Given the description of an element on the screen output the (x, y) to click on. 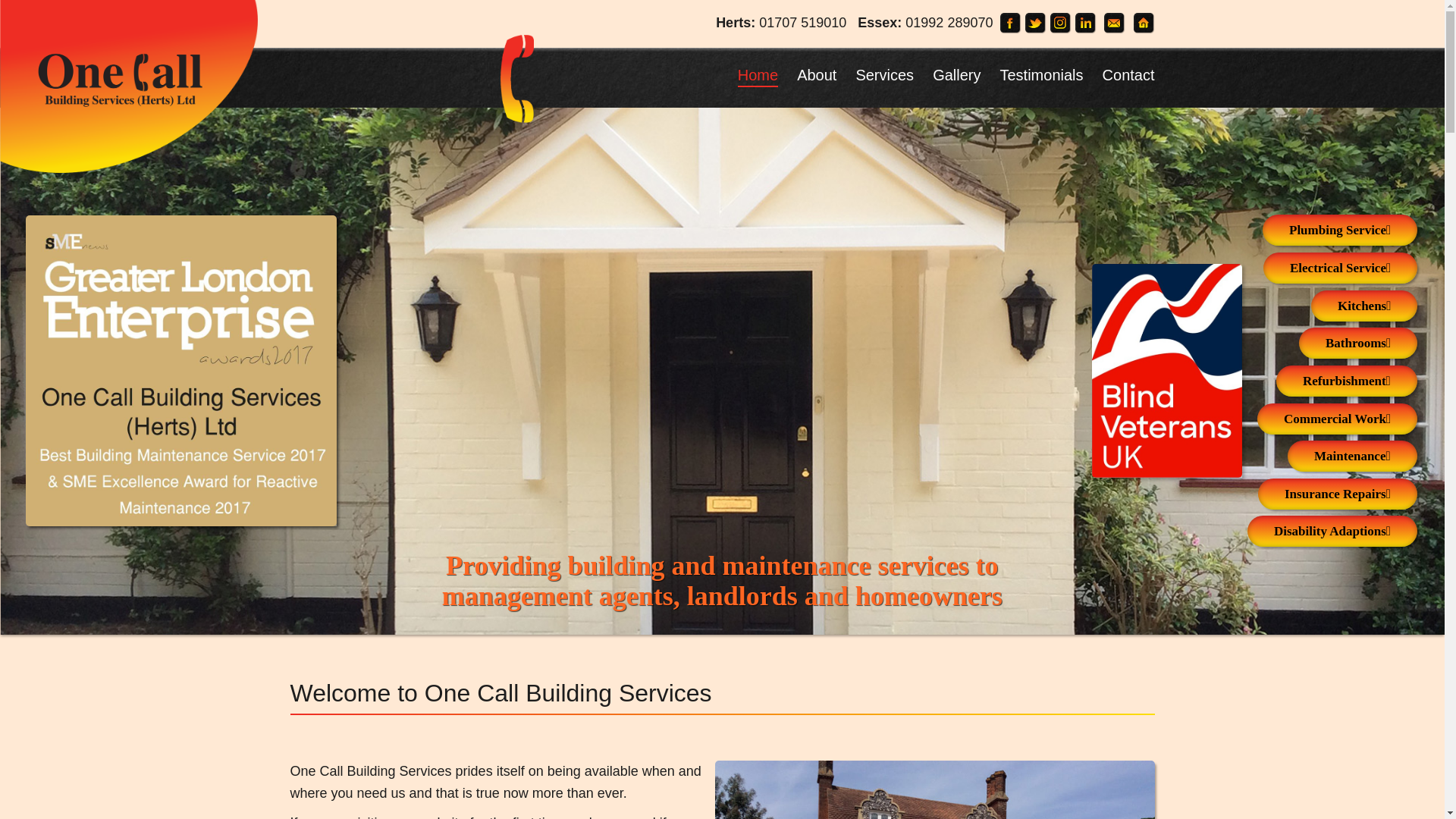
Follow us on Twitter (1035, 19)
Follow us on Instagram (1060, 19)
Go Back to our home page (128, 81)
Electrical Service (1339, 267)
Visit us on FaceBook (1011, 19)
Email Us (1114, 19)
Plumbing Service (1339, 229)
Go Back to our home page (1143, 19)
About (815, 74)
Gallery (956, 74)
Testimonials (1040, 74)
Services (885, 74)
Connect with us on LinkedIn (1085, 19)
Contact (1128, 74)
Home (757, 74)
